Given the description of an element on the screen output the (x, y) to click on. 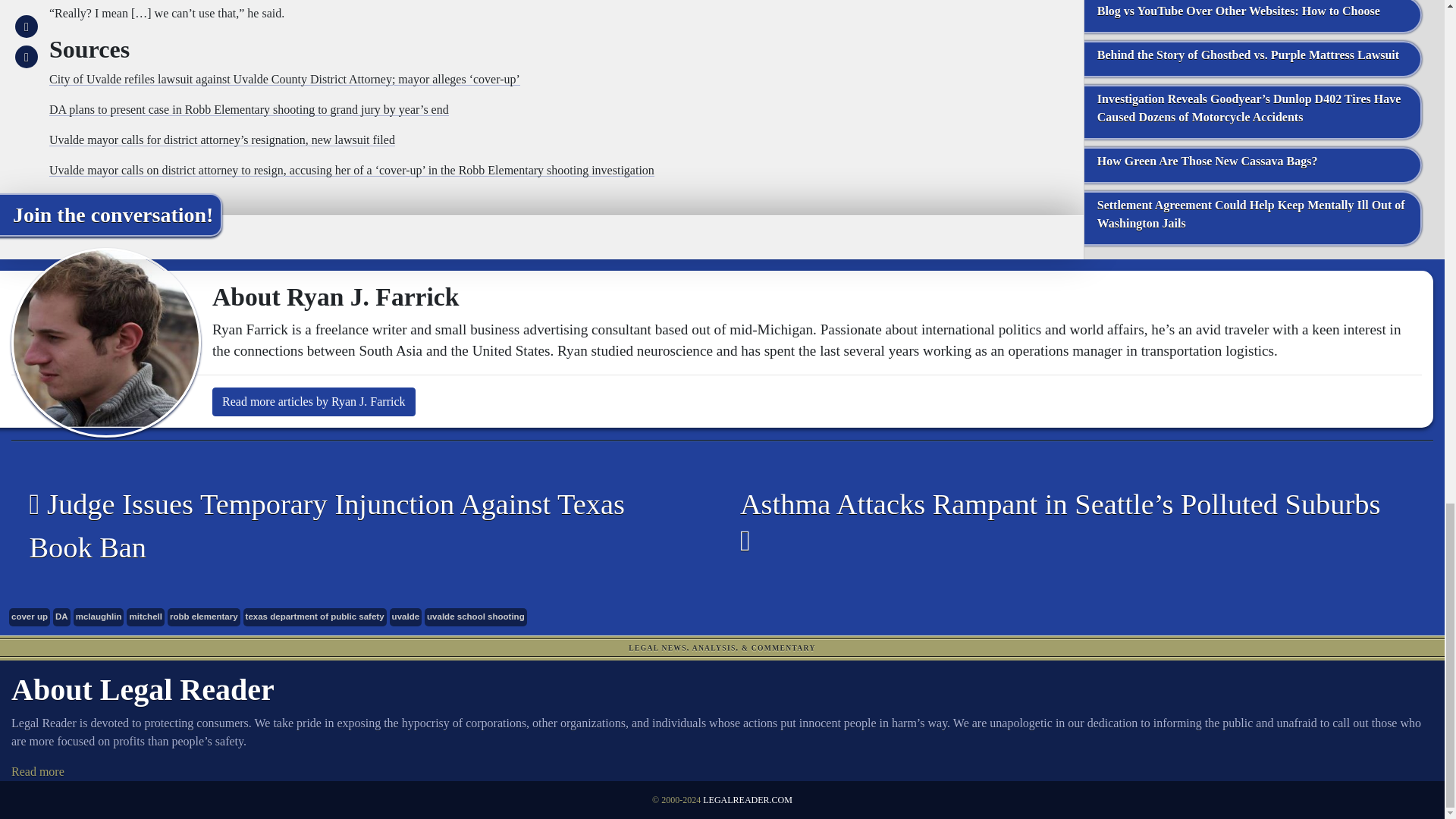
Read more articles by Ryan J. Farrick (313, 401)
DA (60, 616)
robb elementary (203, 616)
mclaughlin (98, 616)
uvalde (406, 616)
Read more articles by Ryan J. Farrick (313, 401)
mitchell (145, 616)
cover up (28, 616)
 Judge Issues Temporary Injunction Against Texas Book Ban (355, 526)
texas department of public safety (315, 616)
